Given the description of an element on the screen output the (x, y) to click on. 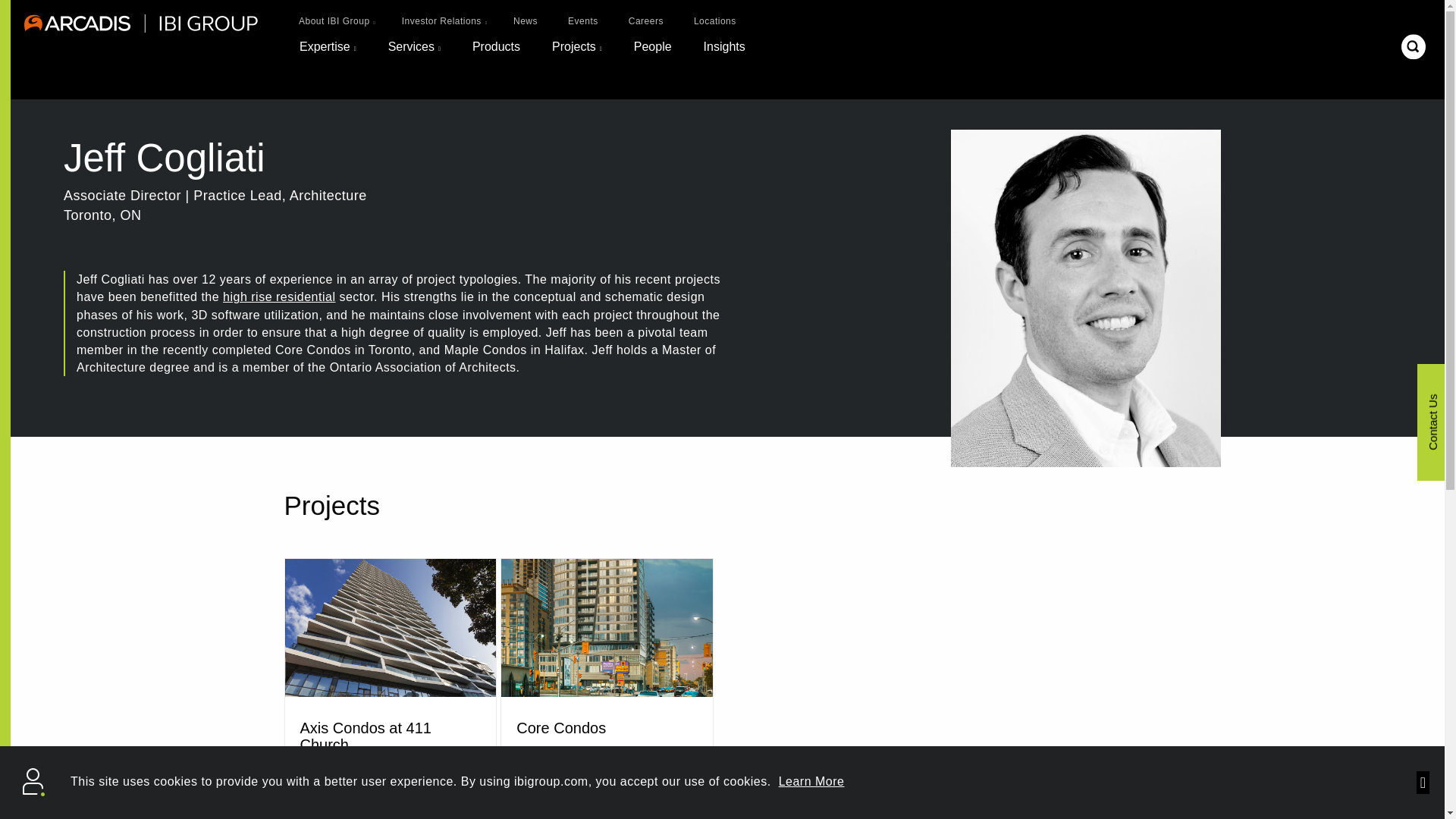
Expertise (327, 53)
Services (413, 53)
Events (583, 20)
Locations (714, 20)
Careers (645, 20)
Learn More (811, 780)
About IBI Group (334, 20)
Investor Relations (440, 20)
News (525, 20)
